Given the description of an element on the screen output the (x, y) to click on. 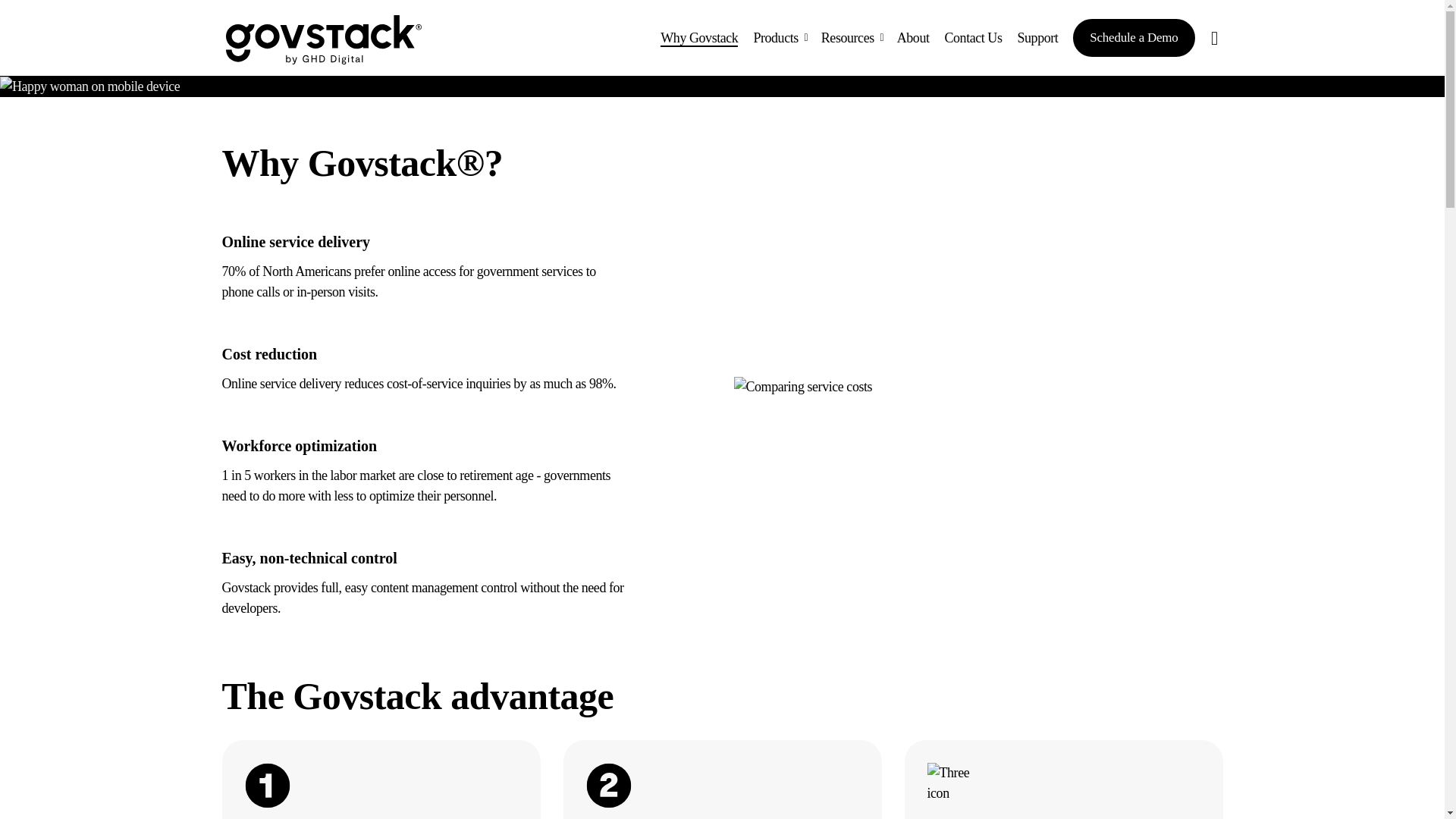
Products (778, 38)
Schedule a Demo (1133, 37)
Resources (851, 38)
Contact Us (972, 38)
Why Govstack (698, 38)
Govstack (323, 39)
